Given the description of an element on the screen output the (x, y) to click on. 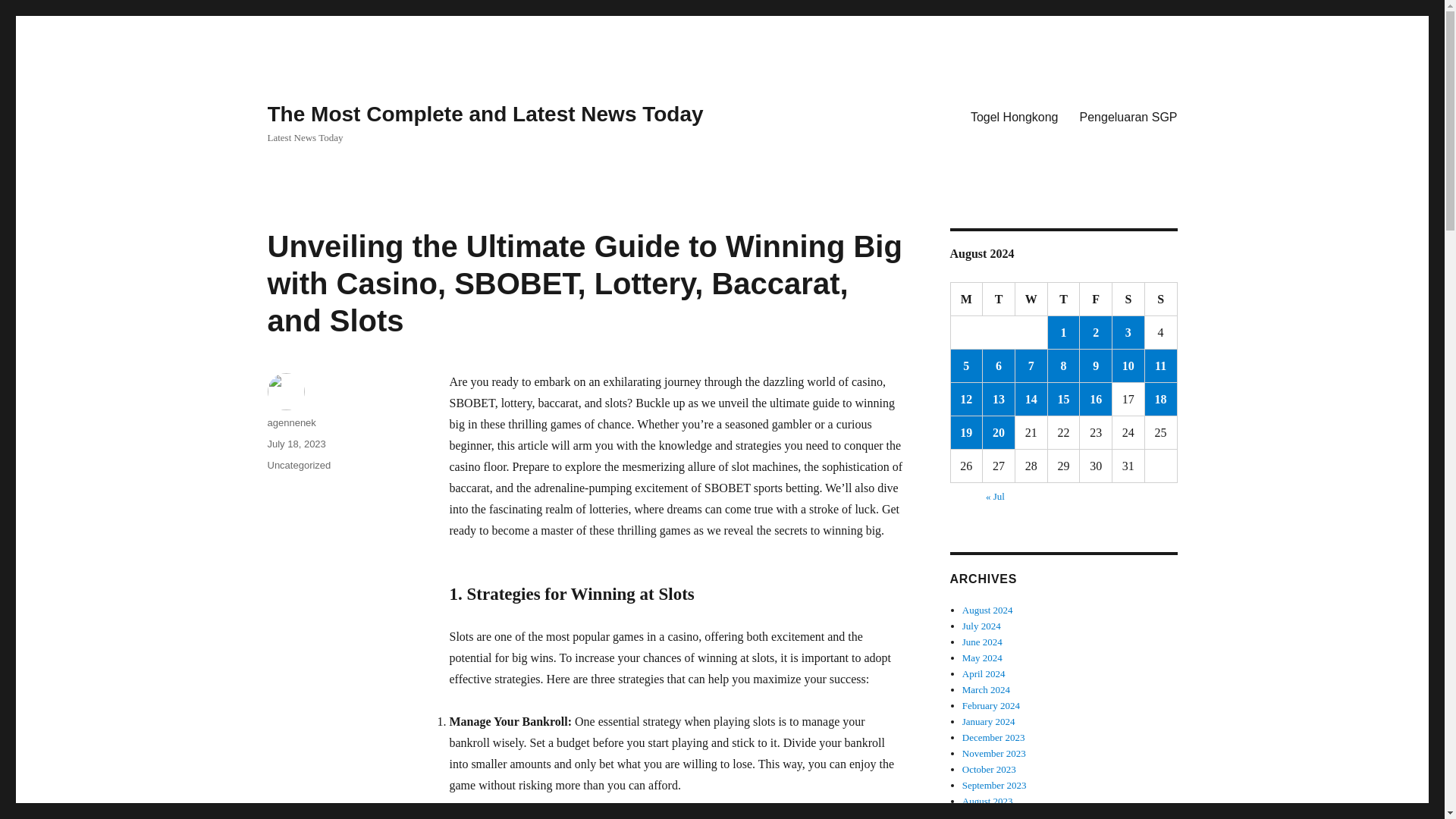
6 (998, 365)
Sunday (1160, 299)
Friday (1096, 299)
9 (1096, 365)
Pengeluaran SGP (1128, 116)
19 (966, 432)
3 (1128, 332)
February 2024 (991, 705)
July 18, 2023 (295, 443)
The Most Complete and Latest News Today (484, 114)
